Given the description of an element on the screen output the (x, y) to click on. 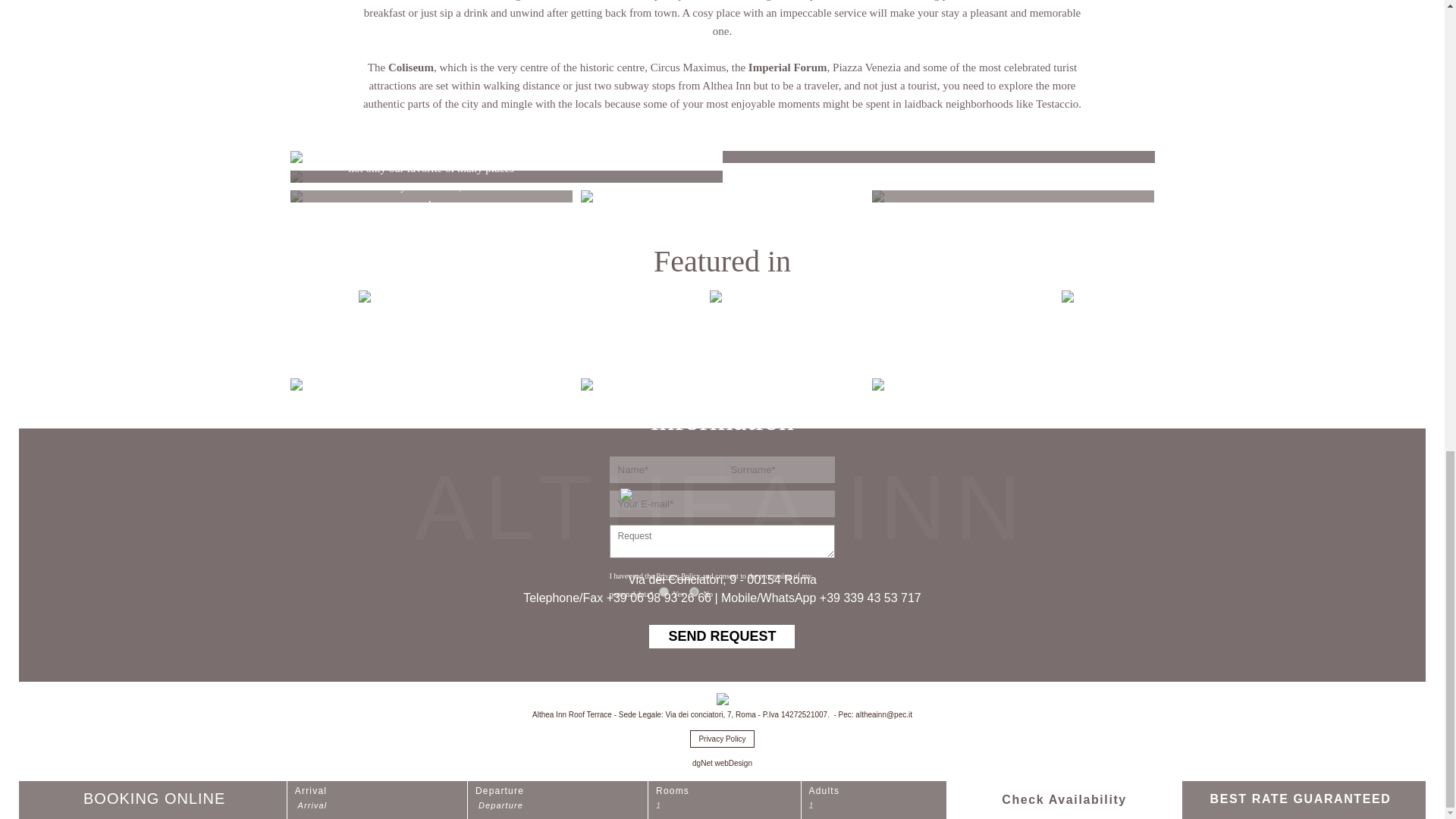
realizzazione siti web Roma (722, 763)
Rooms (721, 156)
Privacy Policy (678, 575)
Next (448, 294)
itinerary (1012, 384)
send request (721, 636)
Privacy Policy (722, 738)
Privacy Policy (722, 738)
Privacy Policy (678, 575)
Previous (414, 294)
